Given the description of an element on the screen output the (x, y) to click on. 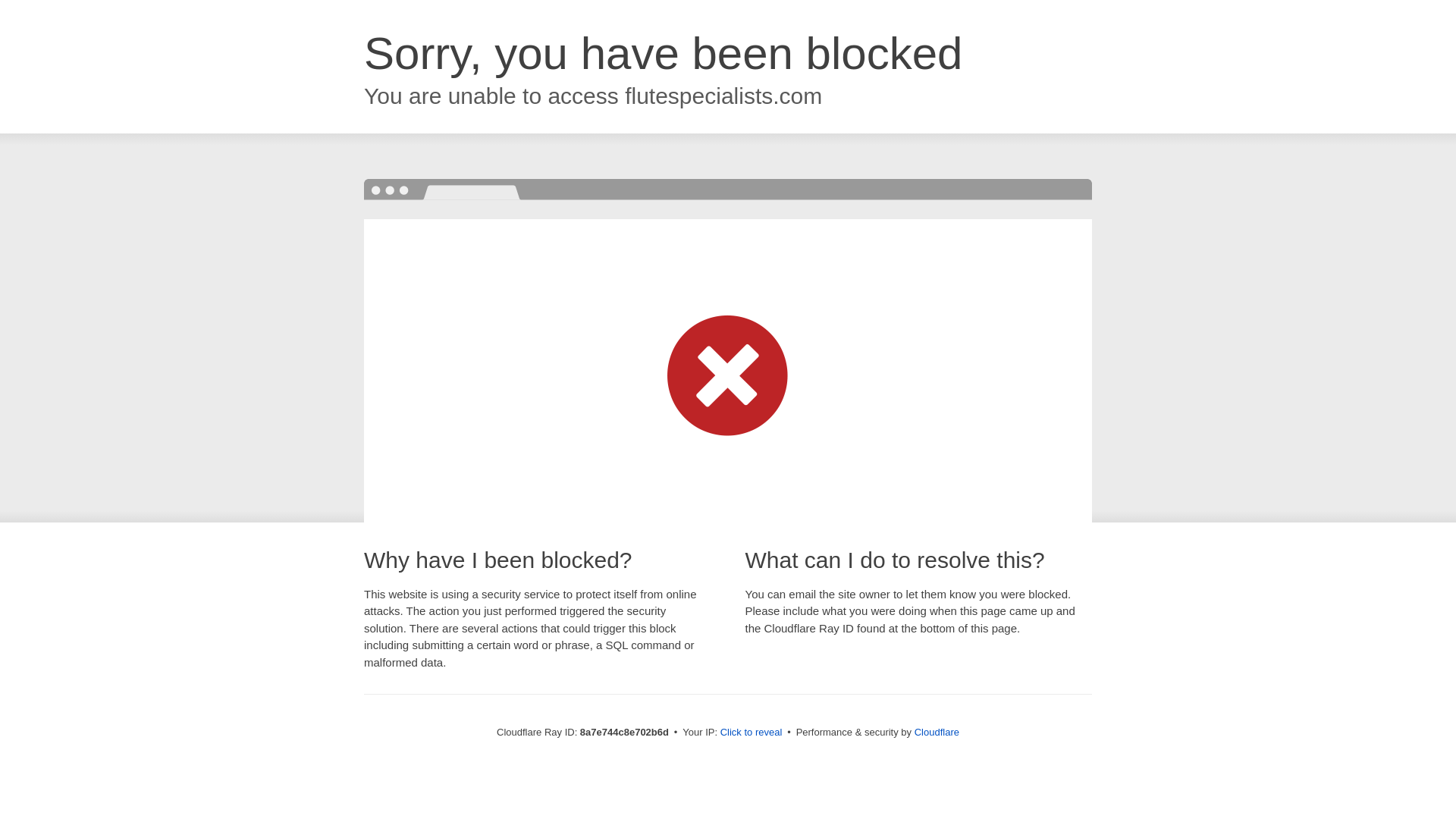
Click to reveal (751, 732)
Cloudflare (936, 731)
